Given the description of an element on the screen output the (x, y) to click on. 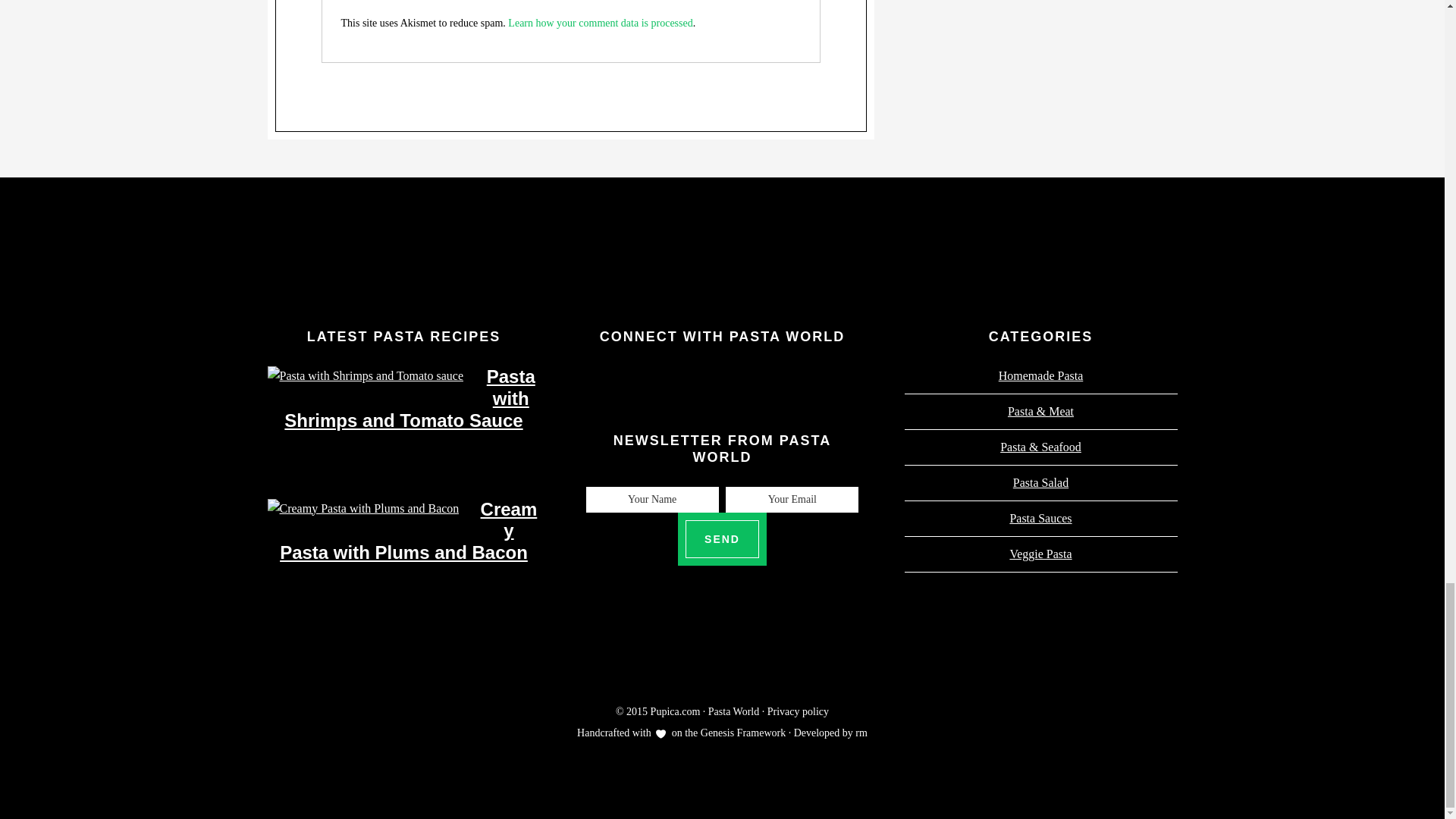
Send (721, 538)
Web design, development and marketing (861, 732)
Learn how your comment data is processed (600, 22)
